Given the description of an element on the screen output the (x, y) to click on. 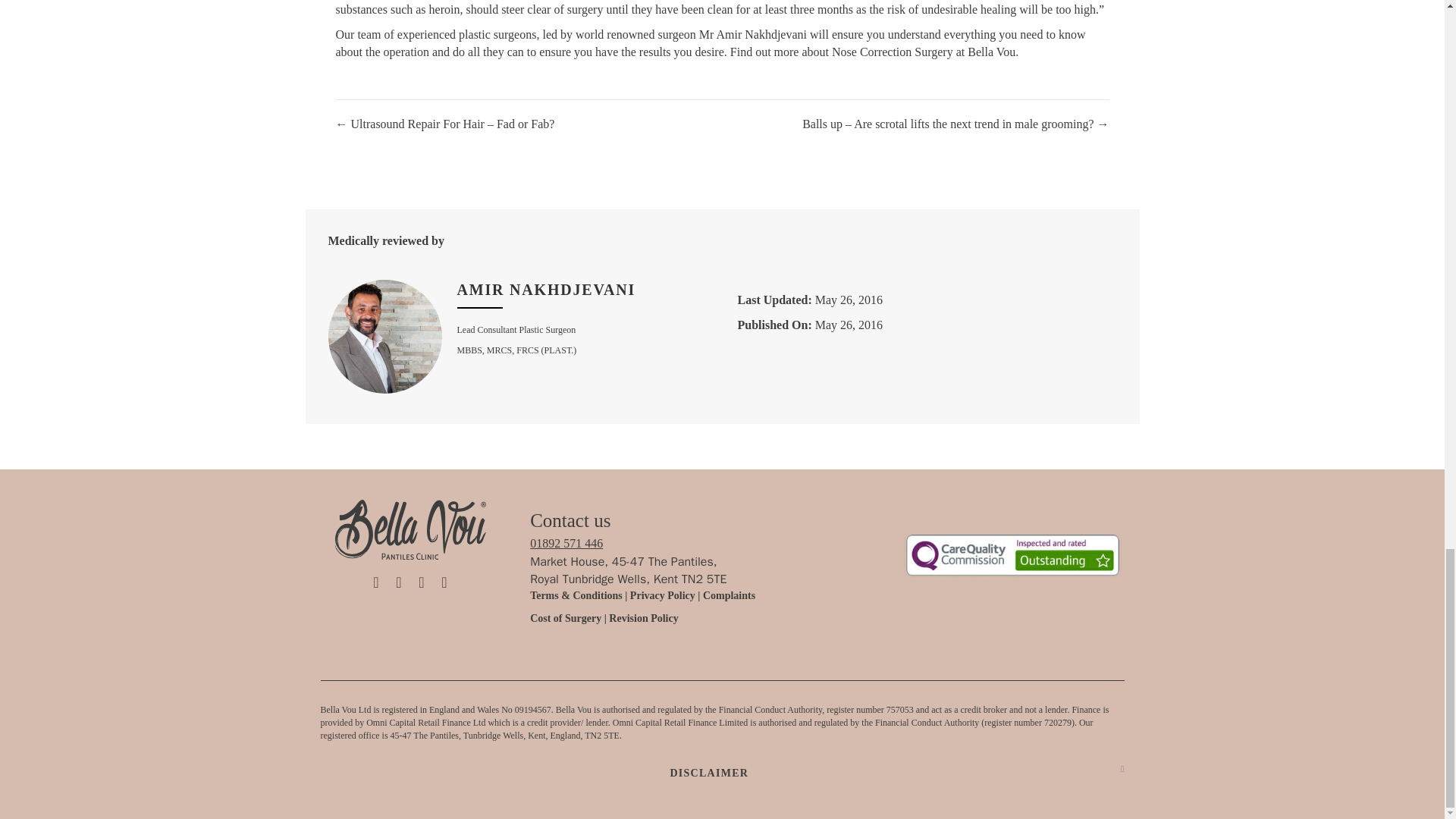
YouTube (443, 581)
Facebook (421, 581)
Instagram (398, 581)
BellaVou Treatment (1011, 555)
TikTok (376, 581)
Amir Nakhdjevani (545, 289)
